Given the description of an element on the screen output the (x, y) to click on. 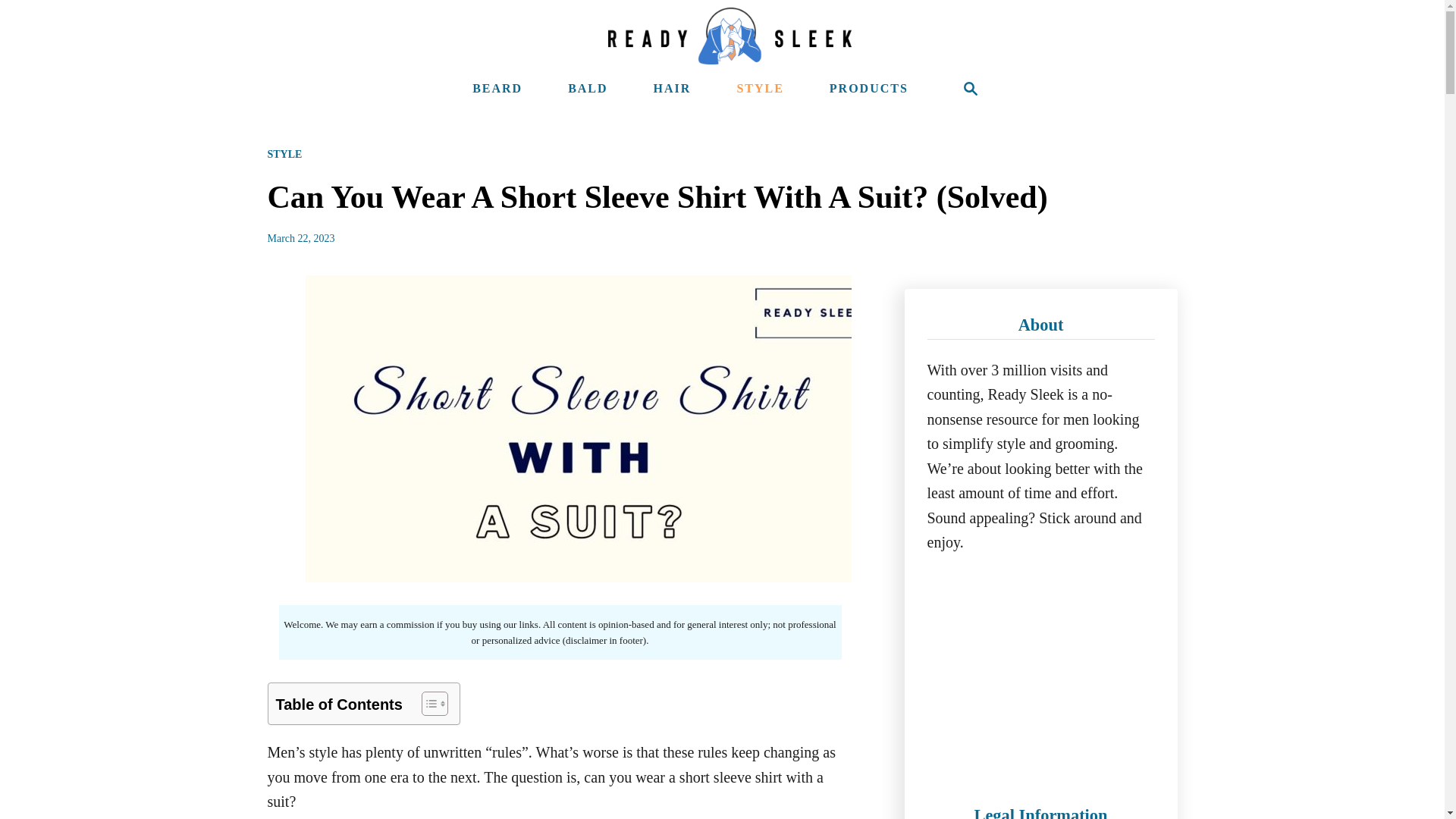
Ready Sleek (730, 35)
STYLE (283, 153)
BEARD (496, 88)
BALD (587, 88)
HAIR (672, 88)
Search (970, 88)
STYLE (759, 88)
PRODUCTS (868, 88)
